Given the description of an element on the screen output the (x, y) to click on. 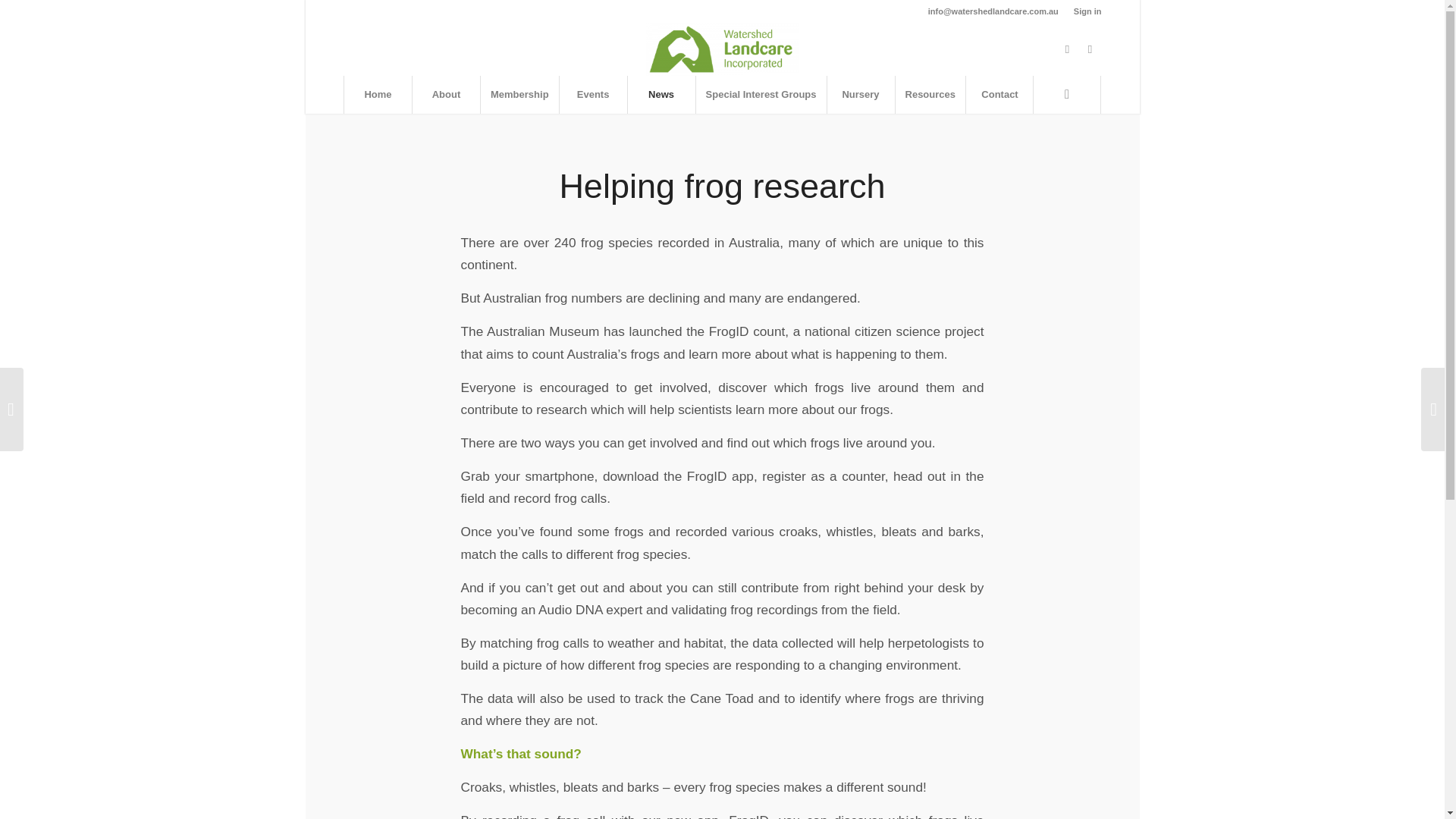
Events (593, 94)
Special Interest Groups (761, 94)
Membership (519, 94)
News (661, 94)
Home (377, 94)
About (446, 94)
